Given the description of an element on the screen output the (x, y) to click on. 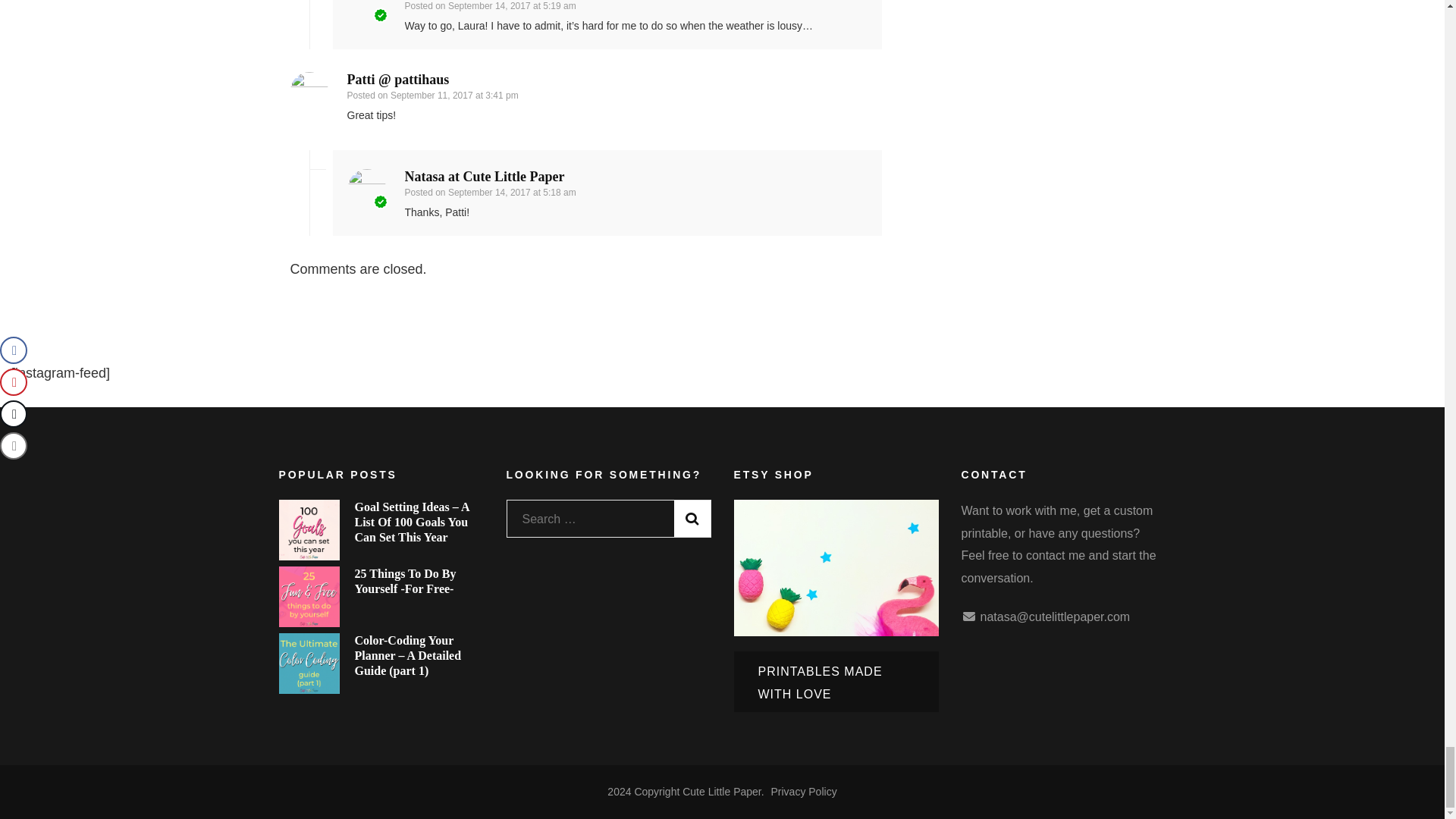
Search (691, 518)
Search (691, 518)
